Given the description of an element on the screen output the (x, y) to click on. 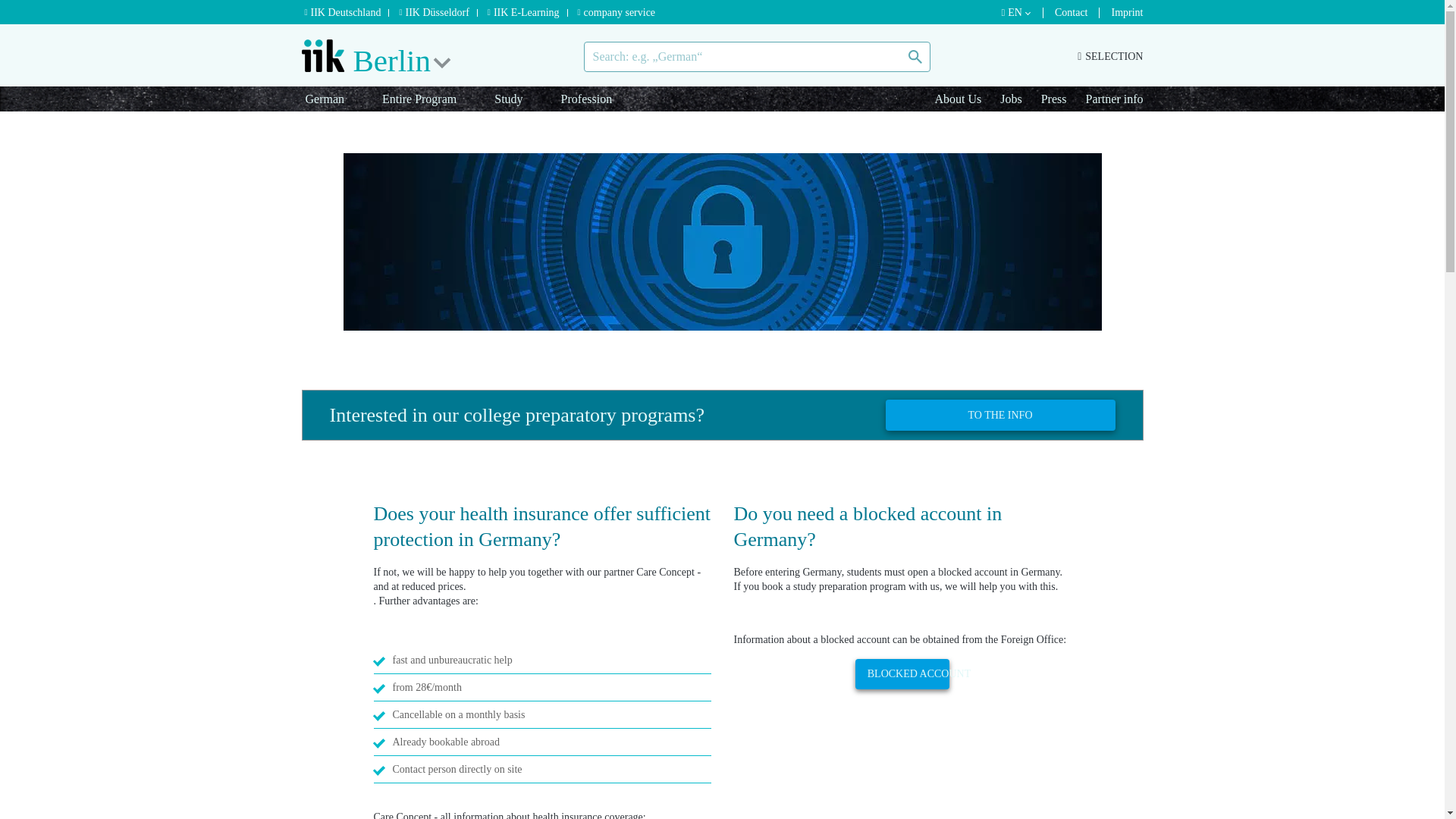
Imprint (1126, 12)
IIK E-Learning (527, 12)
SELECTION (1109, 56)
EN (1022, 12)
Contact (1077, 12)
company service (620, 12)
German (327, 98)
IIK Deutschland (347, 12)
